Given the description of an element on the screen output the (x, y) to click on. 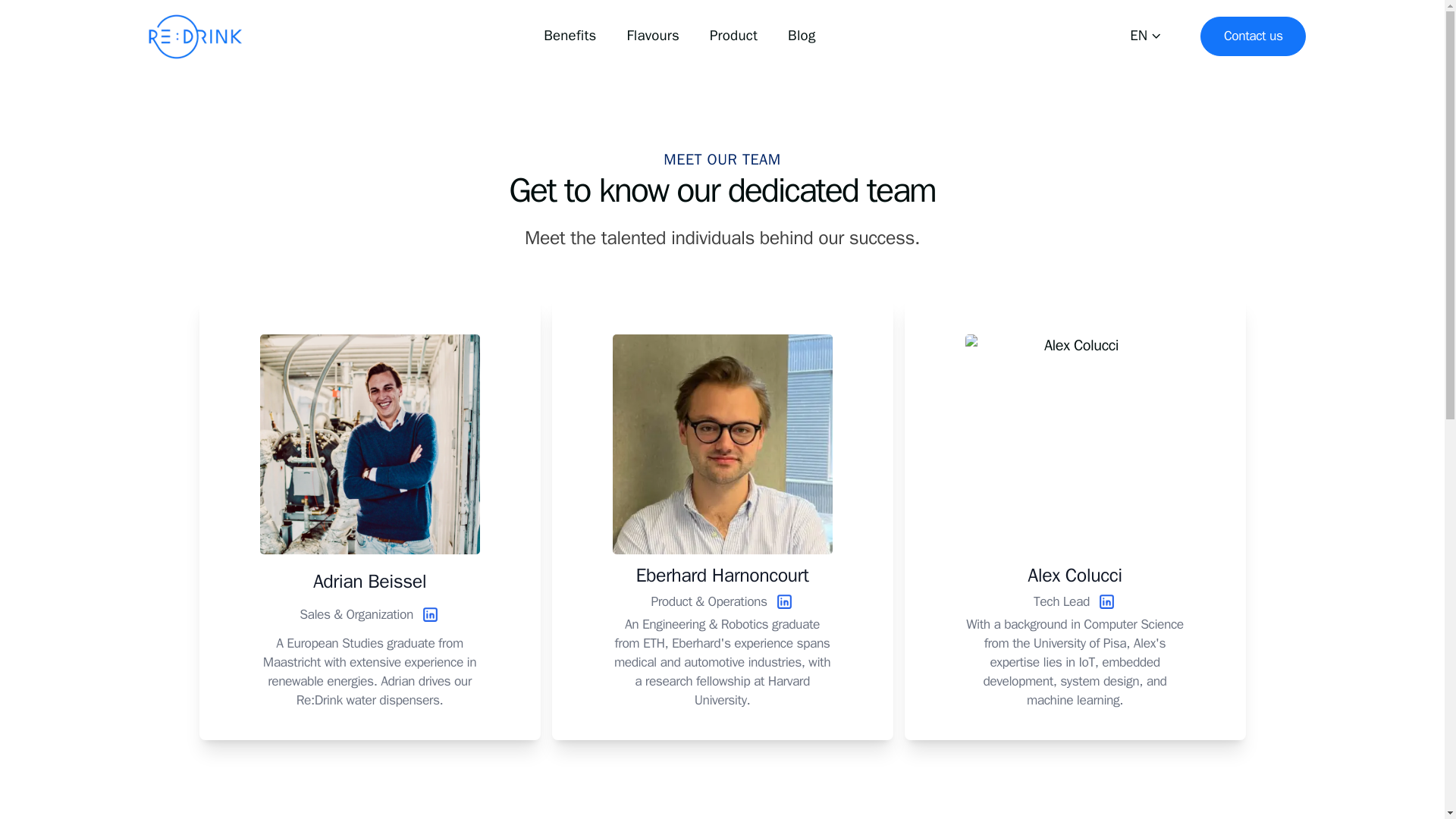
Product (733, 35)
EN (1146, 35)
Contact us (1252, 36)
Benefits (569, 35)
Blog (801, 35)
Flavours (652, 35)
